Given the description of an element on the screen output the (x, y) to click on. 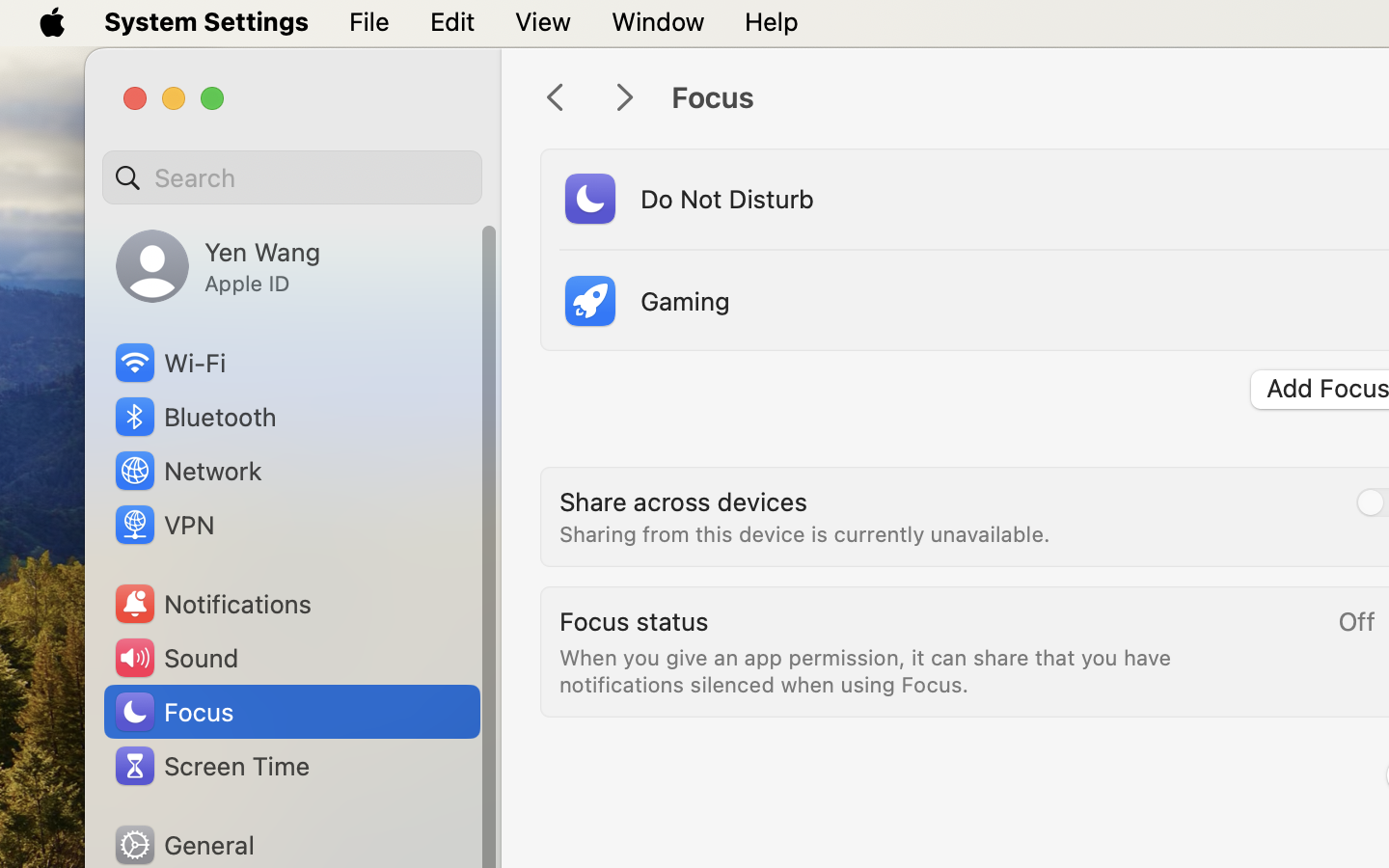
Sharing from this device is currently unavailable. Element type: AXStaticText (804, 533)
Share across devices Element type: AXStaticText (683, 501)
